Given the description of an element on the screen output the (x, y) to click on. 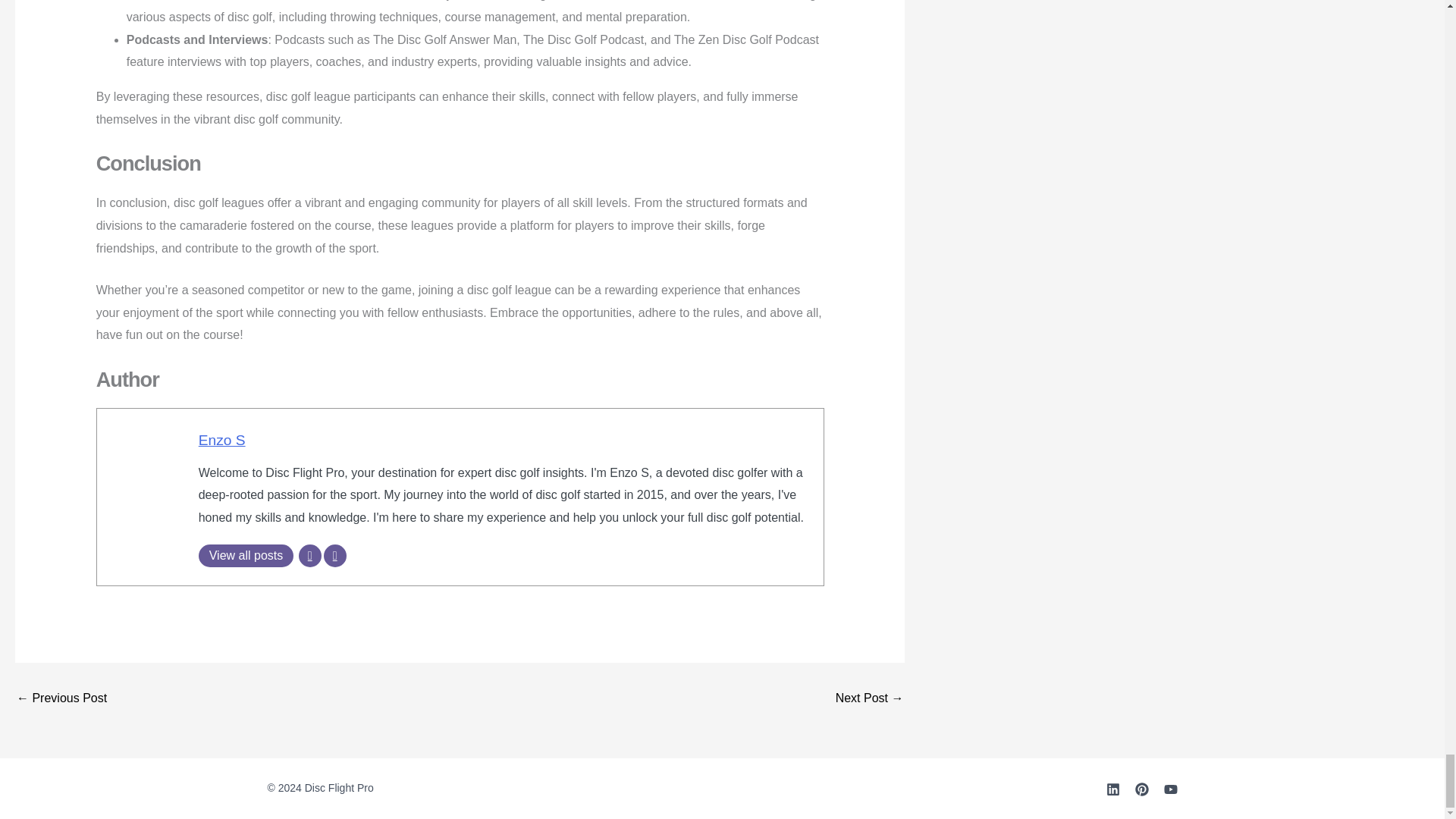
View all posts (246, 555)
Enzo S (222, 439)
View all posts (246, 555)
Enzo S (222, 439)
Understanding Disc Golf Bag Tags Explained (869, 698)
Disc Golf Scoring Explained: Understanding the Game! (61, 698)
